Given the description of an element on the screen output the (x, y) to click on. 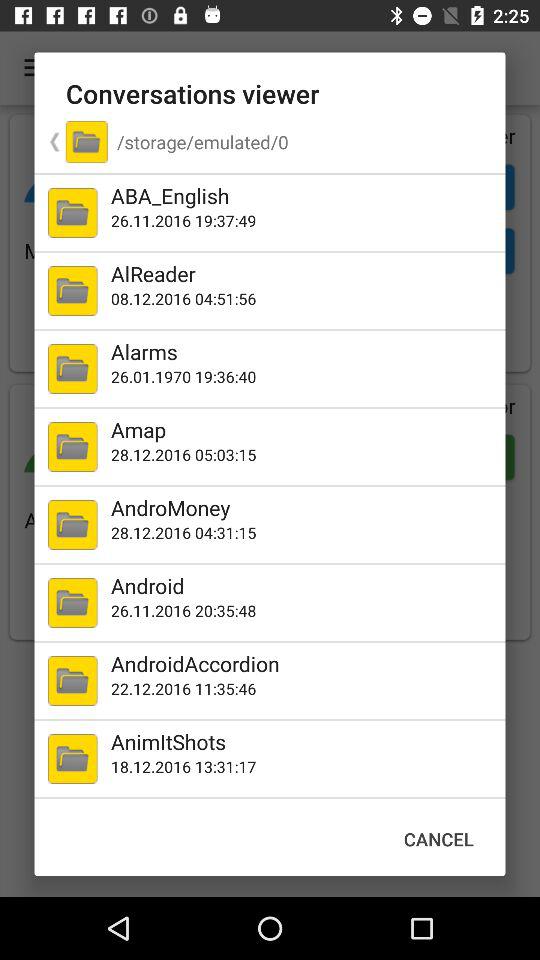
select item at the bottom right corner (438, 838)
